Given the description of an element on the screen output the (x, y) to click on. 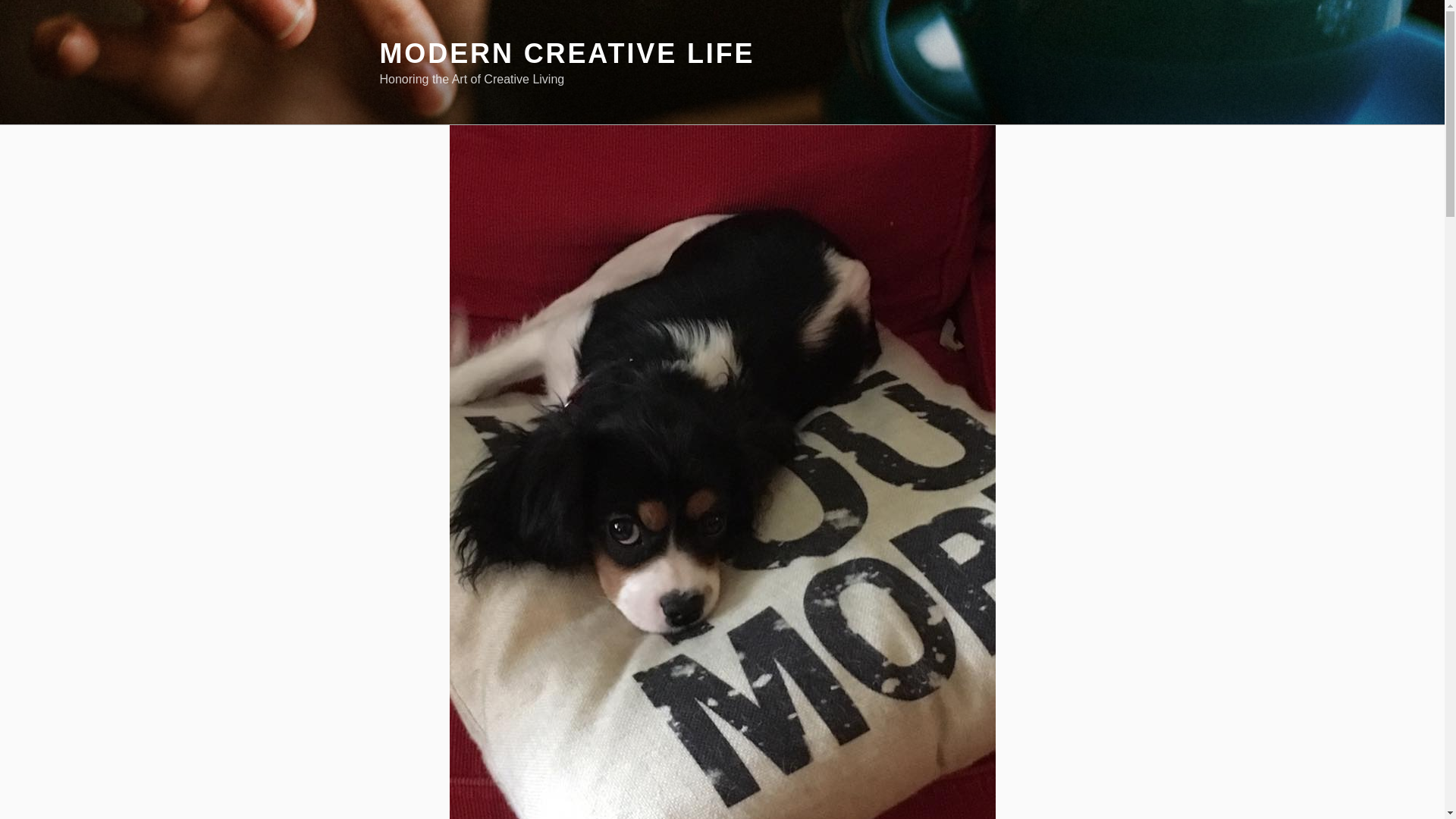
MODERN CREATIVE LIFE (566, 52)
